Given the description of an element on the screen output the (x, y) to click on. 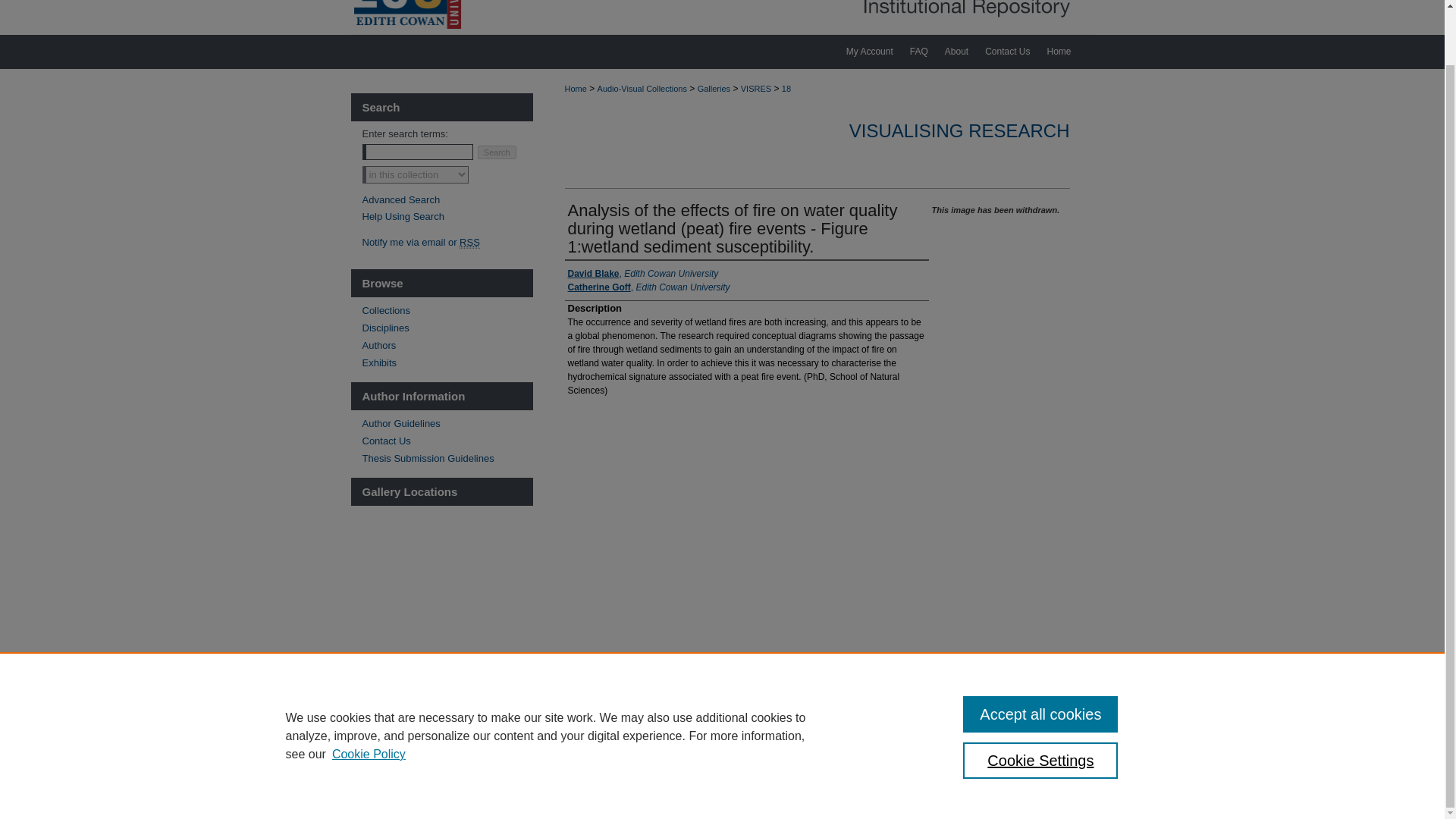
View gallery on map (447, 668)
Authors (447, 345)
Home (1065, 51)
Search (496, 151)
Audio-Visual Collections (641, 88)
VISUALISING RESEARCH (959, 130)
Catherine Goff, Edith Cowan University (648, 287)
Home (575, 88)
18 (785, 88)
Home (568, 751)
FAQ (918, 51)
Author Guidelines (447, 423)
Thesis Submission Guidelines (447, 458)
Galleries (713, 88)
Research Online (721, 17)
